Given the description of an element on the screen output the (x, y) to click on. 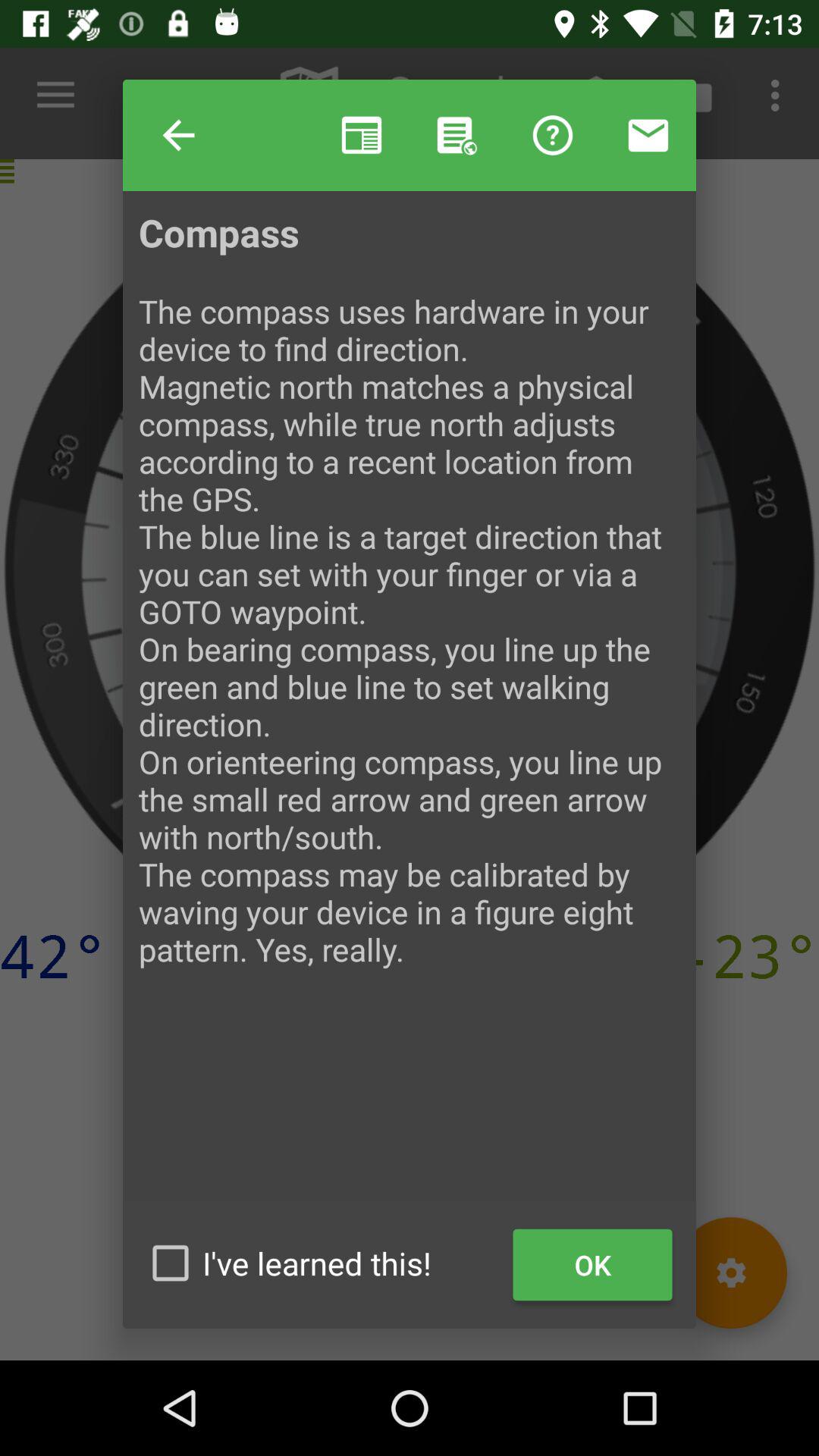
choose item to the right of help item (361, 135)
